Given the description of an element on the screen output the (x, y) to click on. 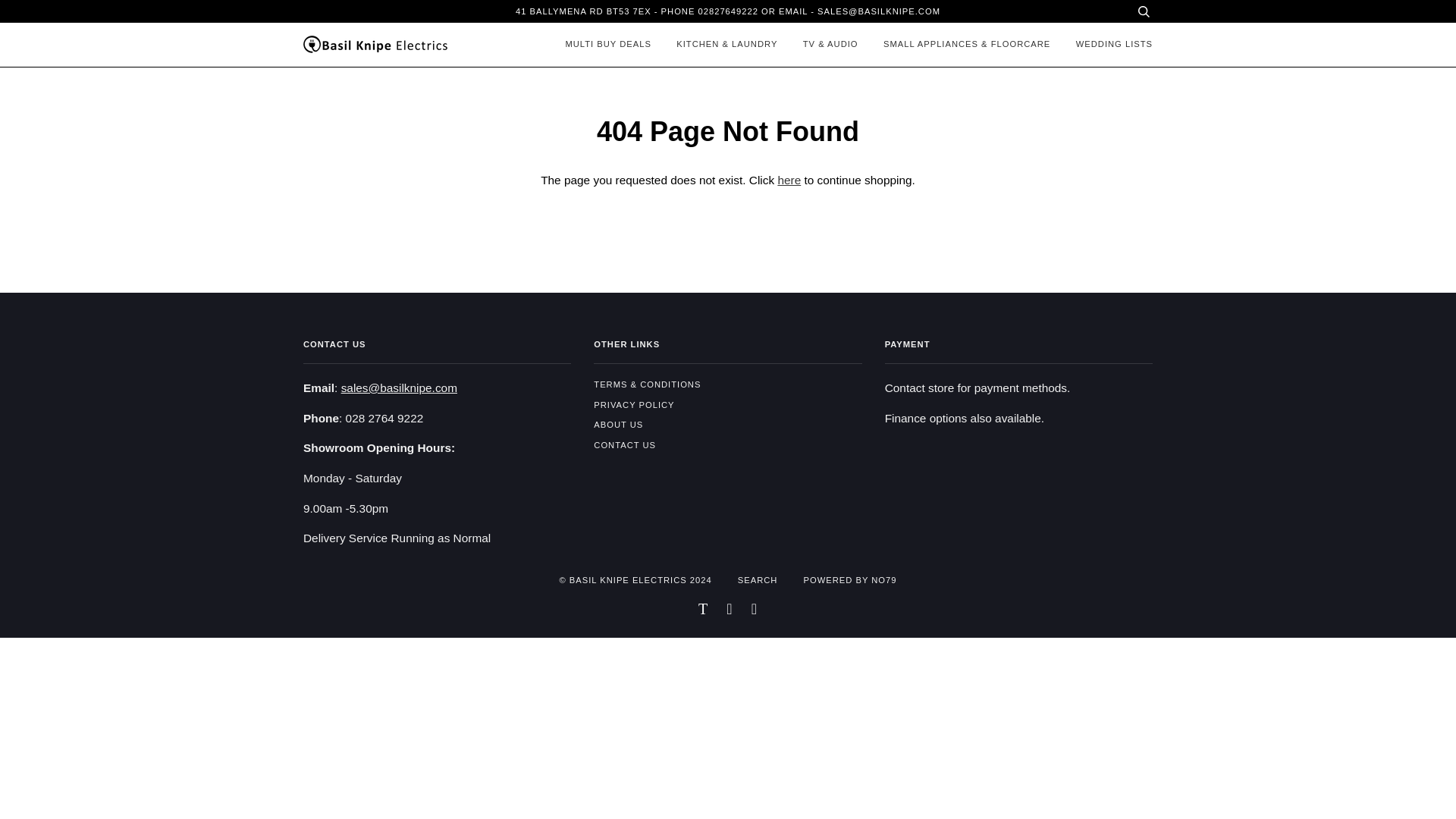
Basil Knipe Electrics on Twitter (702, 610)
MULTI BUY DEALS (603, 44)
